Given the description of an element on the screen output the (x, y) to click on. 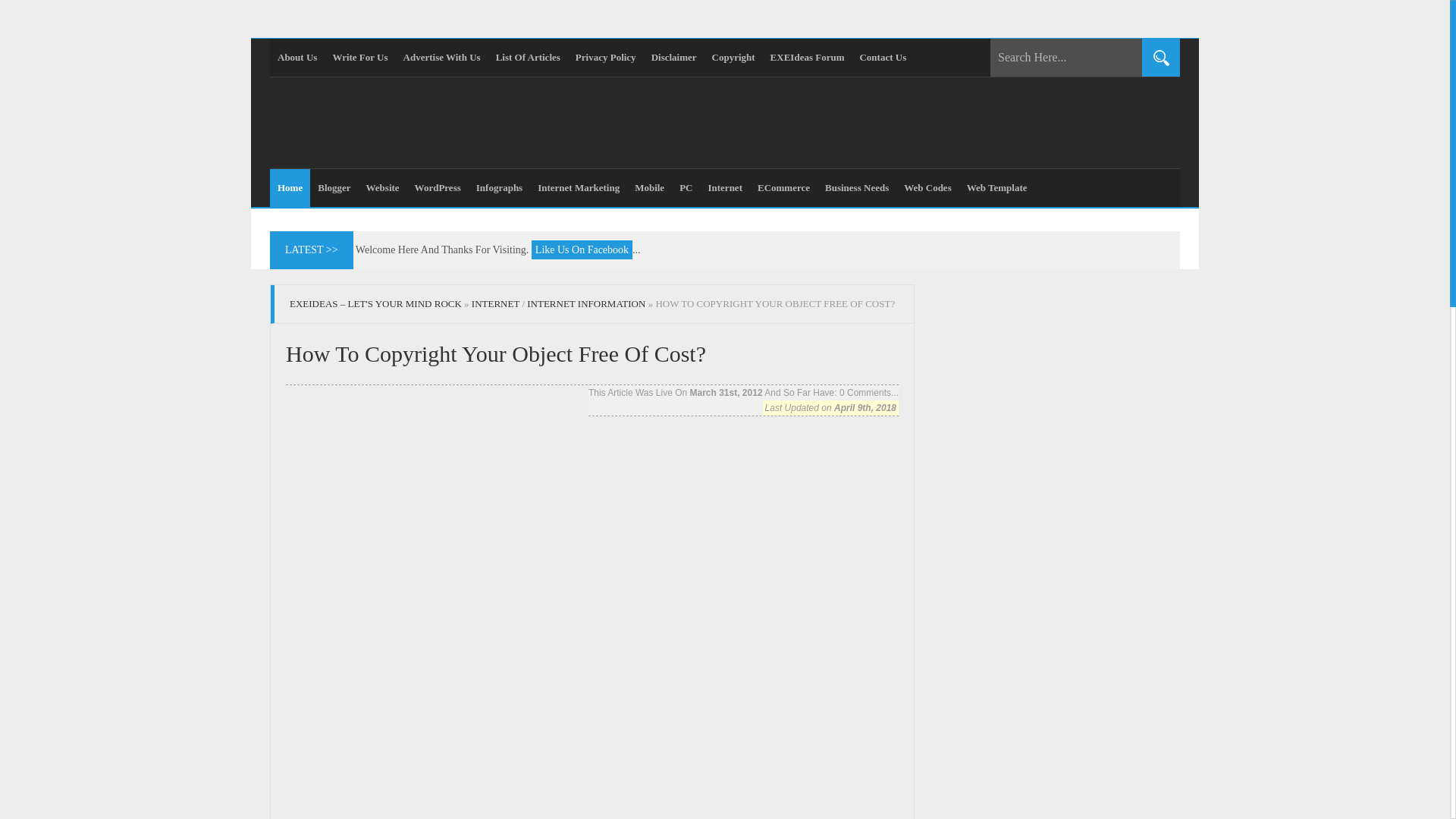
Advertise With Us (441, 57)
Disclaimer (673, 57)
WordPress (437, 187)
INTERNET INFORMATION (586, 303)
Copyright (733, 57)
Website (382, 187)
Home (289, 187)
Infographs (498, 187)
Mobile (649, 187)
List Of Articles (527, 57)
